Given the description of an element on the screen output the (x, y) to click on. 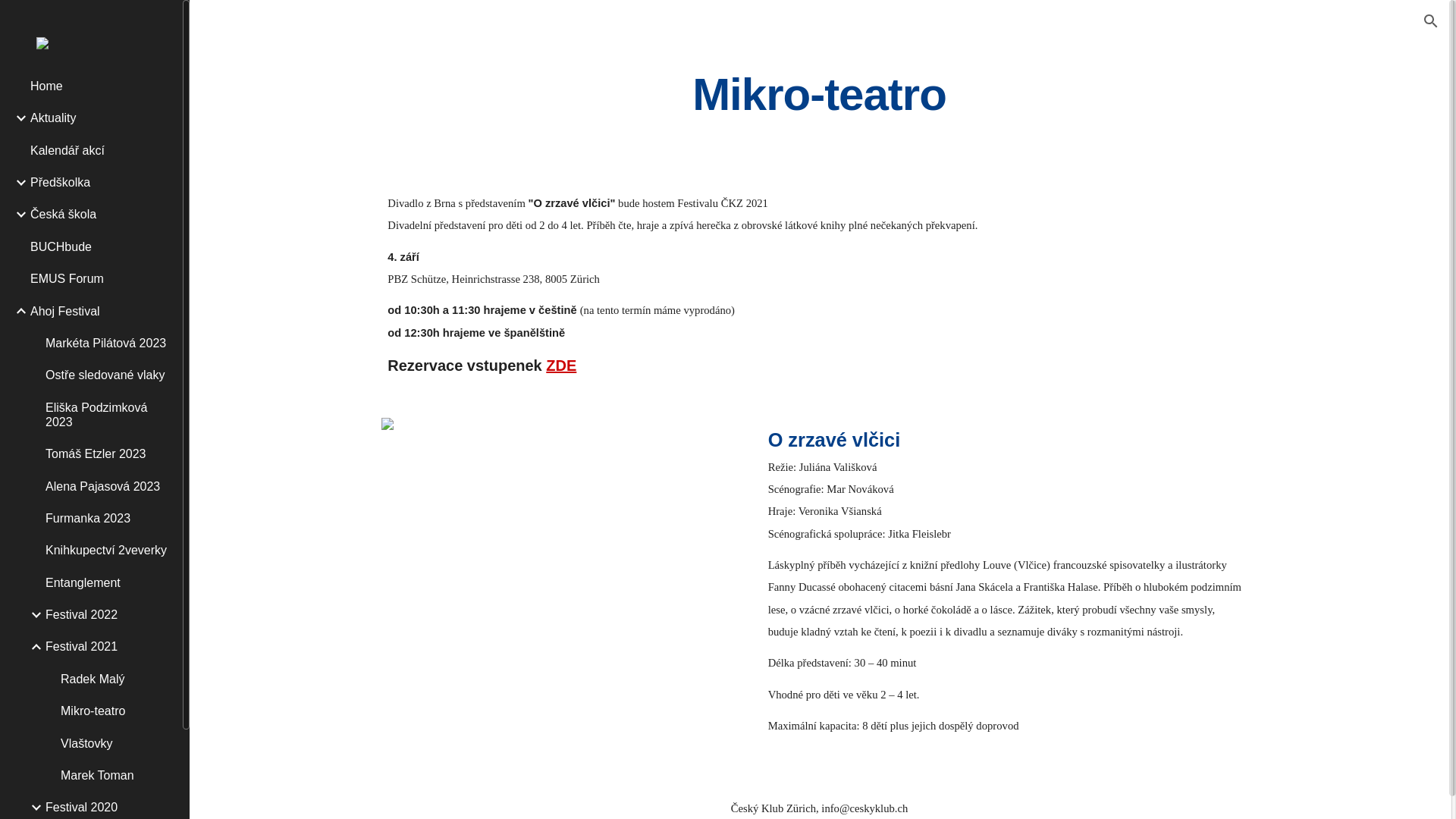
Marek Toman Element type: text (115, 774)
Expand/Collapse Element type: hover (16, 118)
Festival 2021 Element type: text (107, 646)
Expand/Collapse Element type: hover (31, 614)
Expand/Collapse Element type: hover (16, 310)
Aktuality Element type: text (100, 118)
Expand/Collapse Element type: hover (31, 646)
ZDE Element type: text (561, 365)
EMUS Forum Element type: text (100, 278)
Home Element type: text (100, 85)
Expand/Collapse Element type: hover (31, 807)
Expand/Collapse Element type: hover (16, 182)
Entanglement Element type: text (107, 582)
Furmanka 2023 Element type: text (107, 518)
Expand/Collapse Element type: hover (16, 214)
BUCHbude Element type: text (100, 246)
Festival 2022 Element type: text (107, 614)
Mikro-teatro Element type: text (115, 711)
Ahoj Festival Element type: text (100, 310)
